Given the description of an element on the screen output the (x, y) to click on. 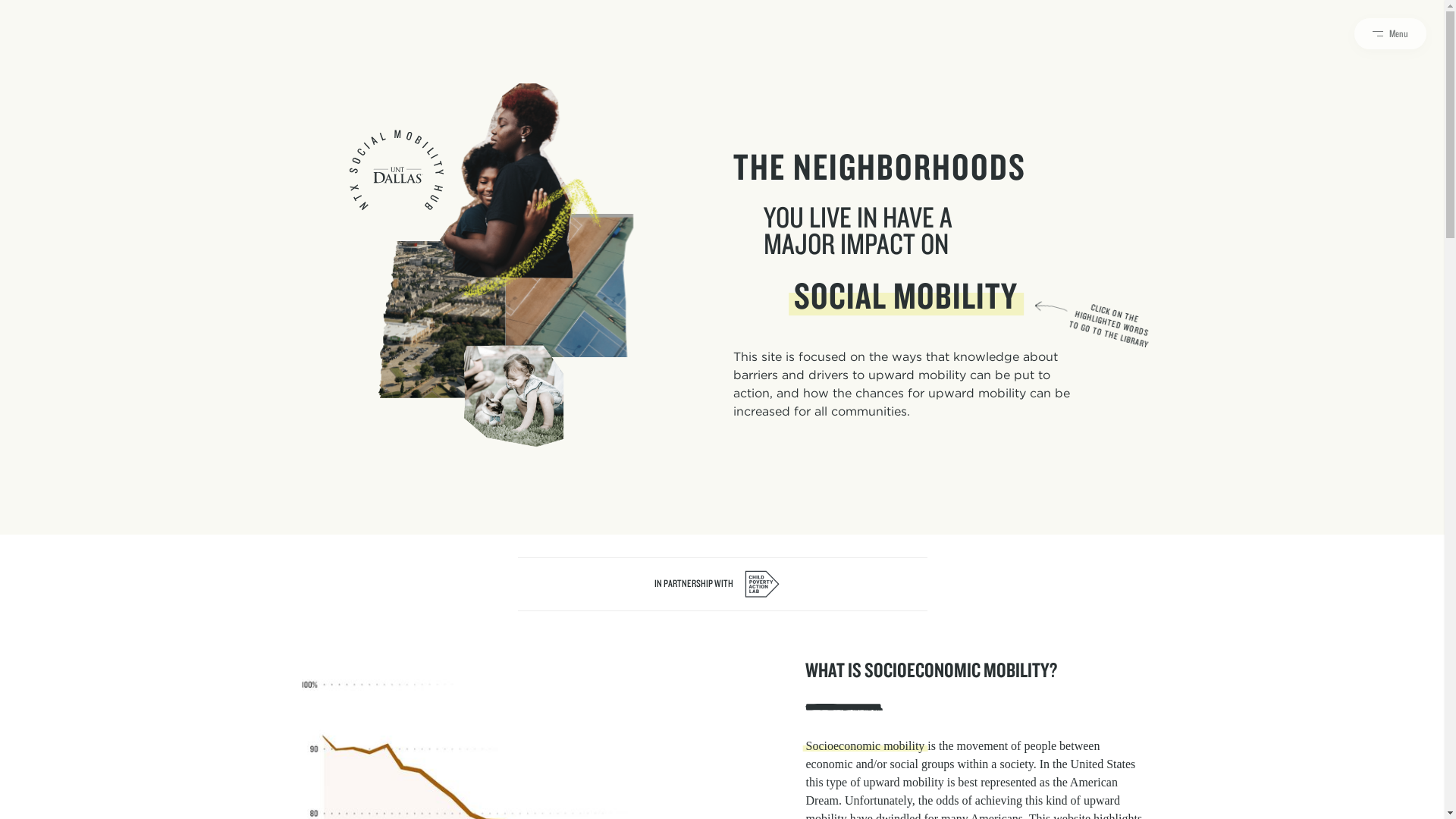
Socioeconomic mobility (864, 745)
NTX Social Mobility Hub (396, 169)
NTX Social Mobility Hub (396, 169)
SOCIAL MOBILITY (905, 294)
Menu (1390, 33)
